Given the description of an element on the screen output the (x, y) to click on. 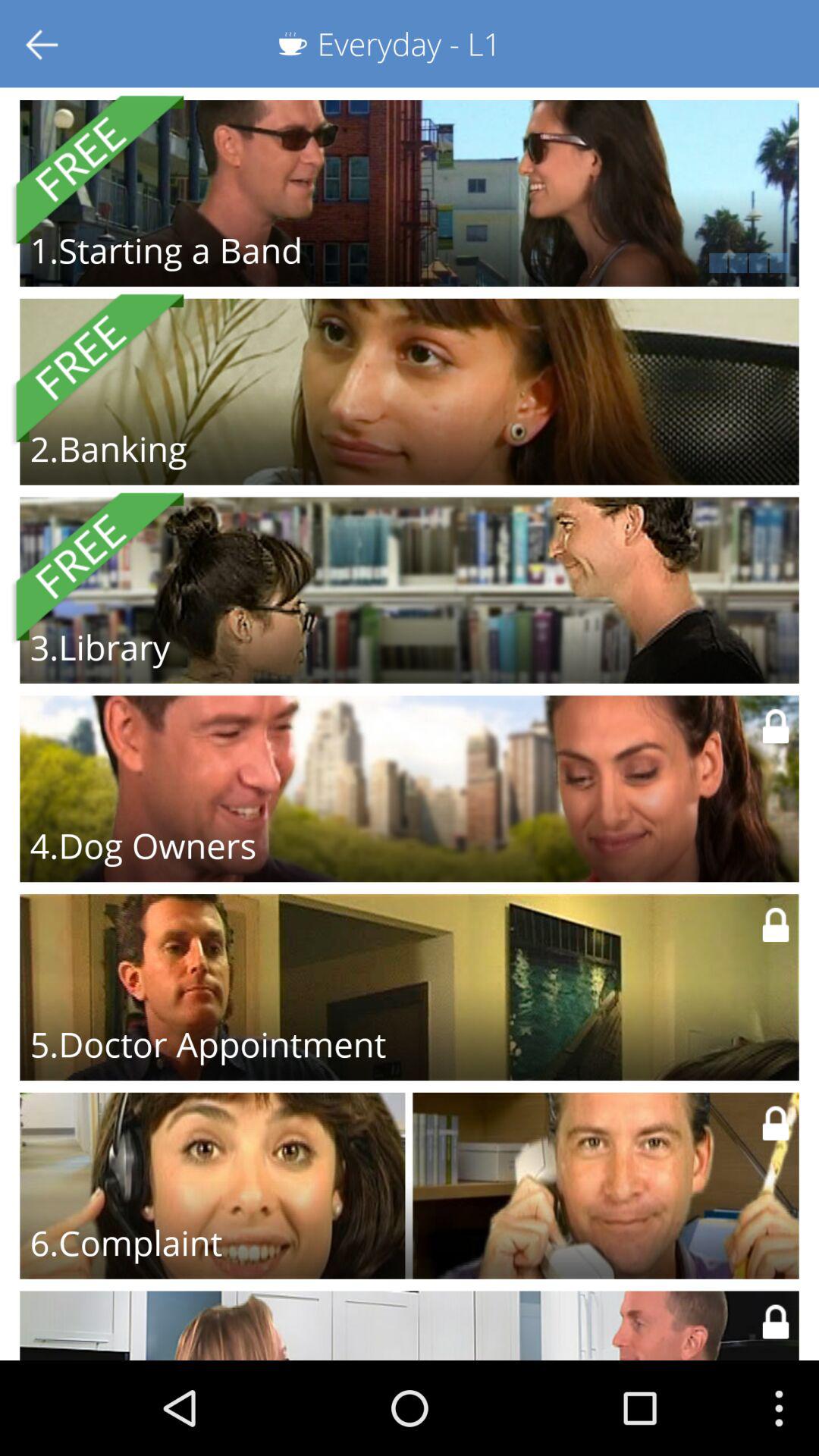
go back (43, 43)
